Given the description of an element on the screen output the (x, y) to click on. 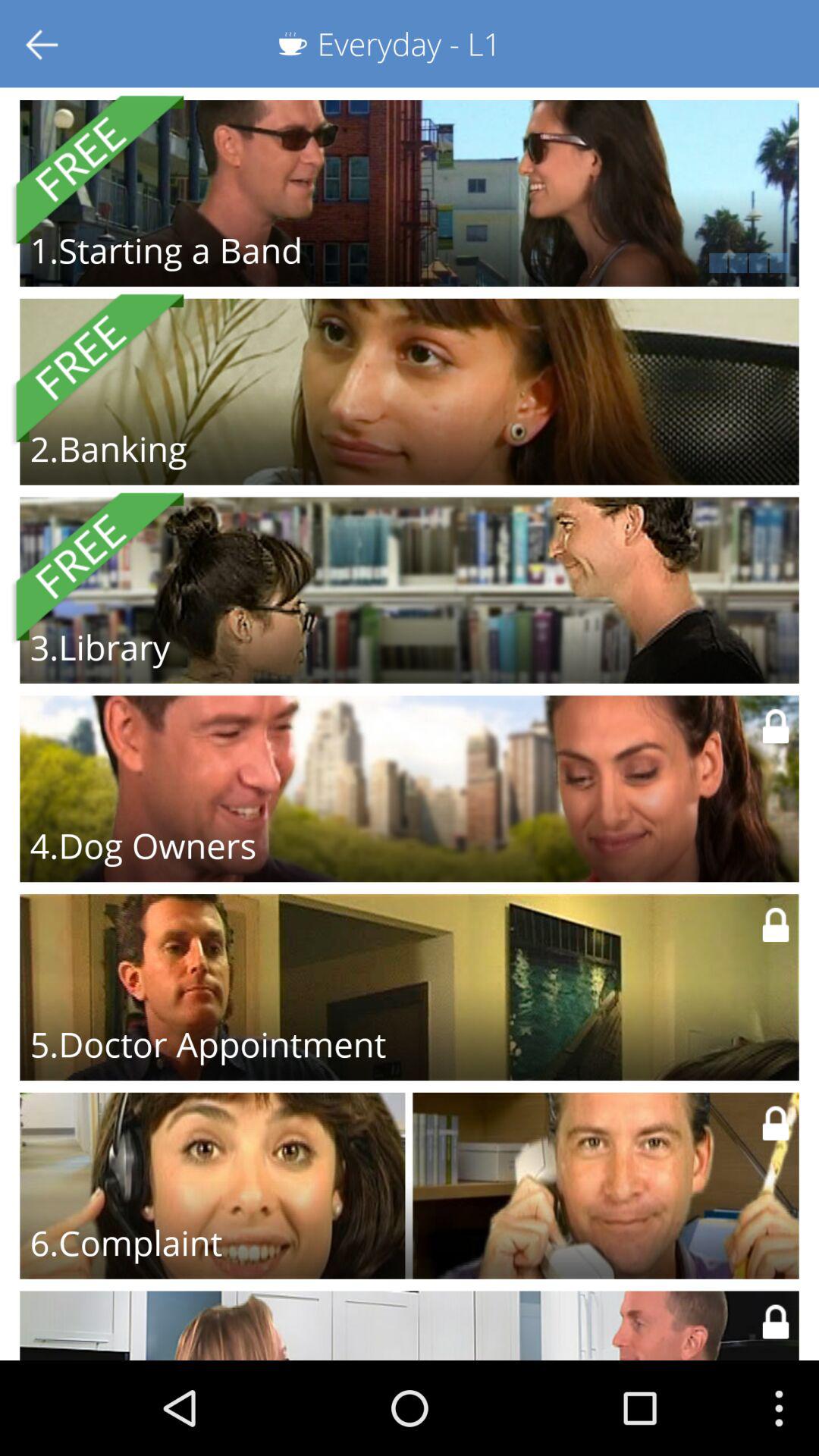
go back (43, 43)
